Given the description of an element on the screen output the (x, y) to click on. 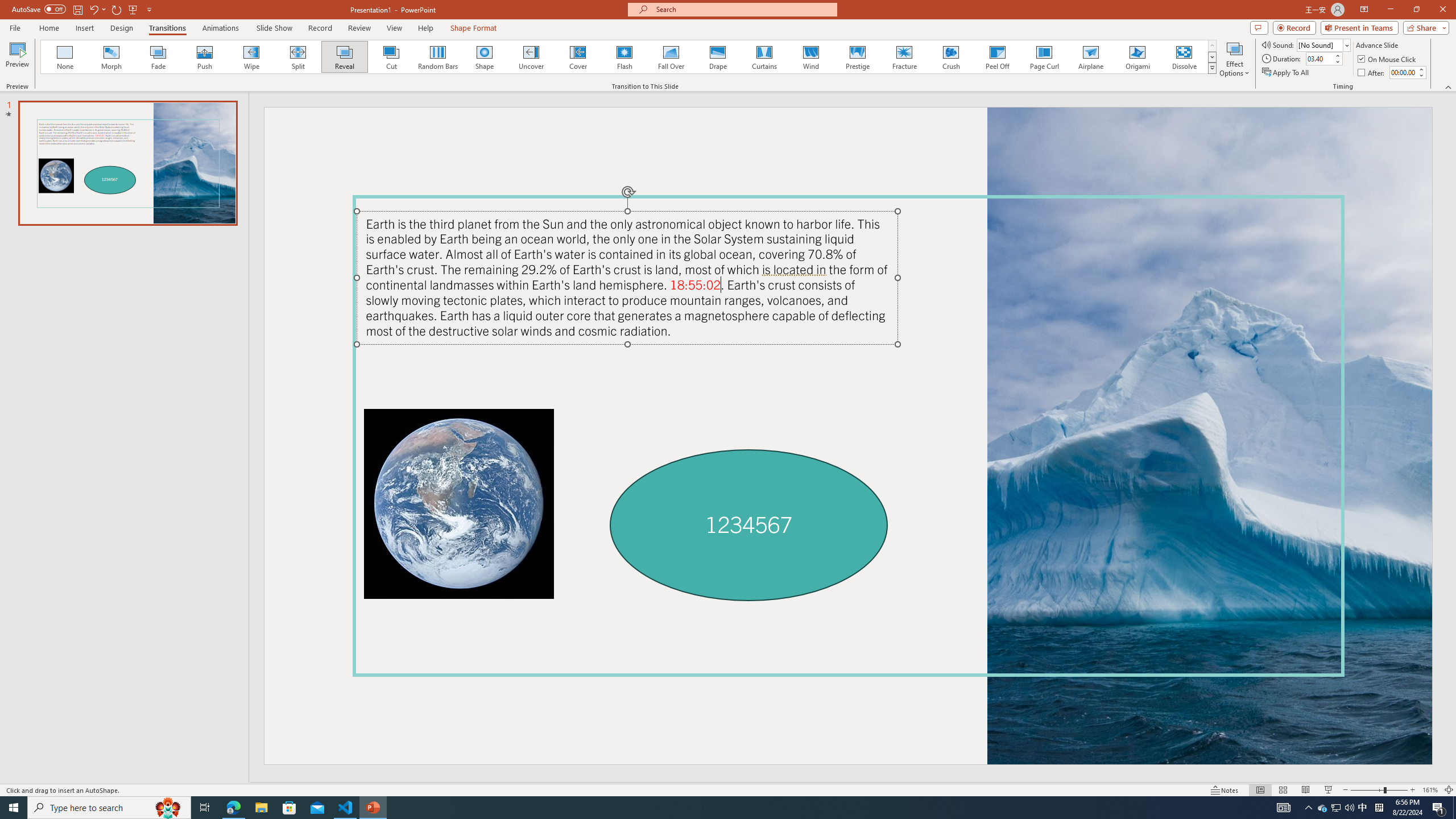
Reveal (344, 56)
Fall Over (670, 56)
